Given the description of an element on the screen output the (x, y) to click on. 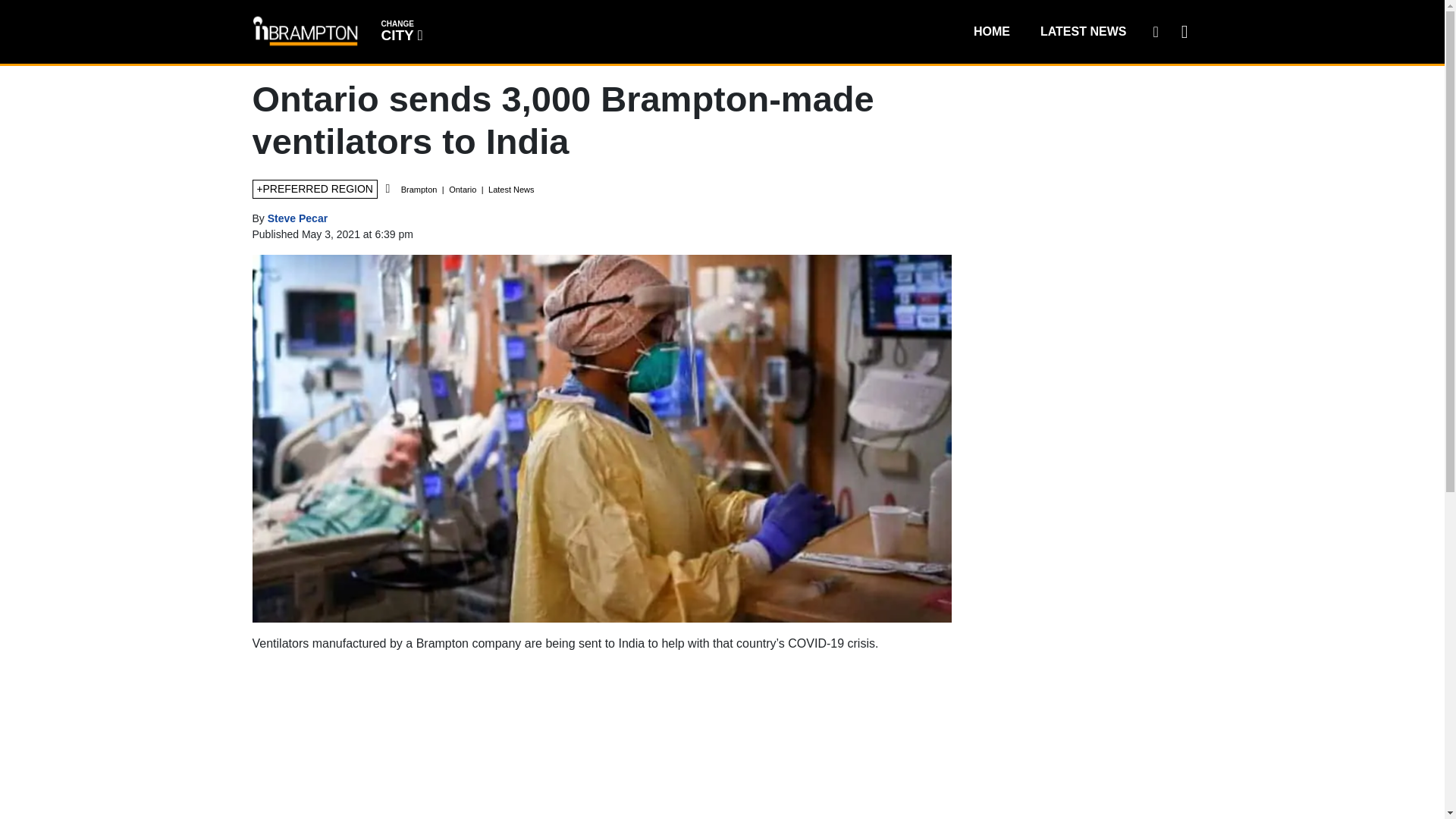
SIGN UP FOR OUR NEWSLETTER (1155, 31)
LATEST NEWS (1083, 31)
HOME (991, 31)
Posts by 921 (297, 218)
